Given the description of an element on the screen output the (x, y) to click on. 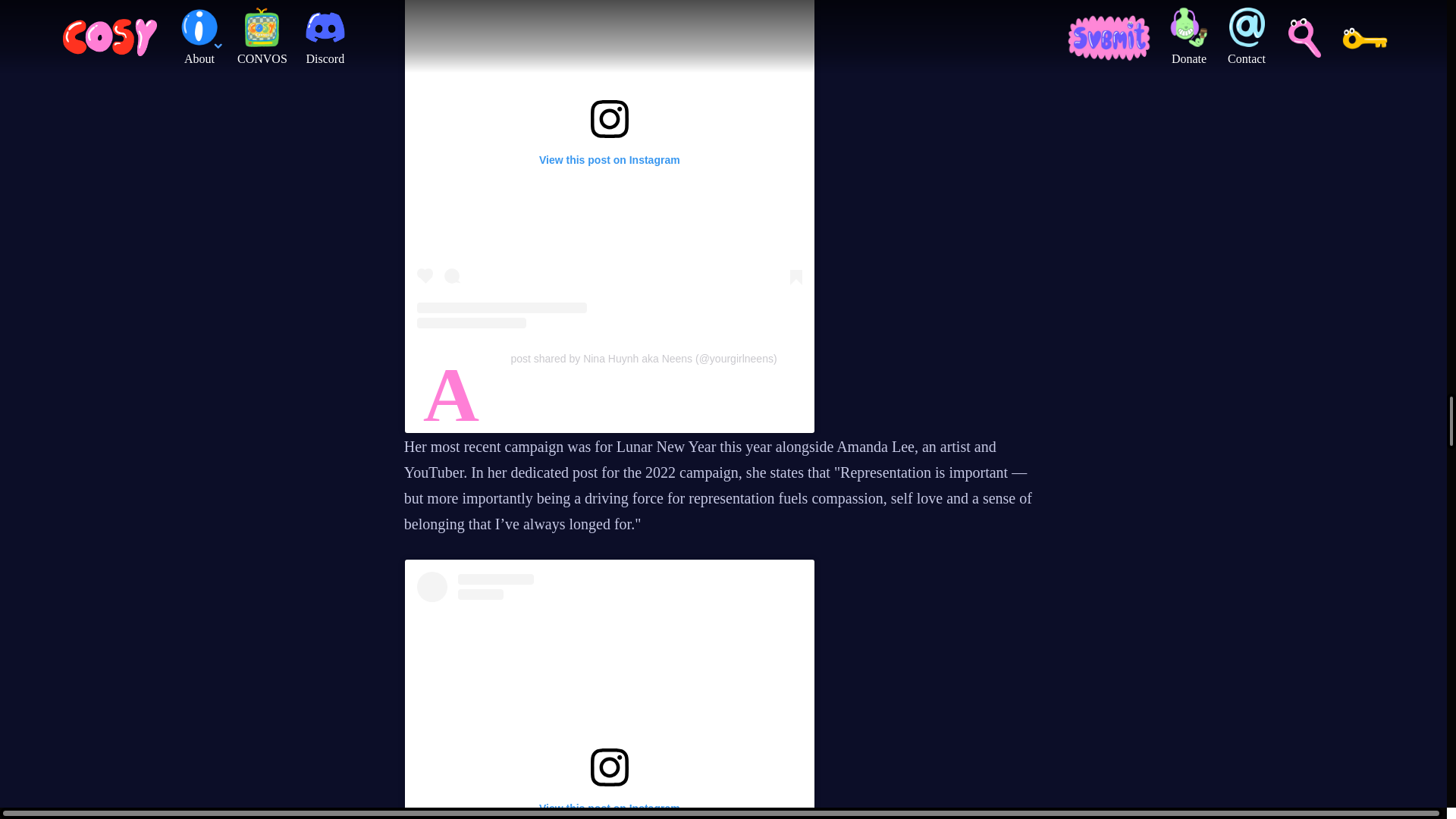
View this post on Instagram (609, 695)
View this post on Instagram (609, 164)
